Given the description of an element on the screen output the (x, y) to click on. 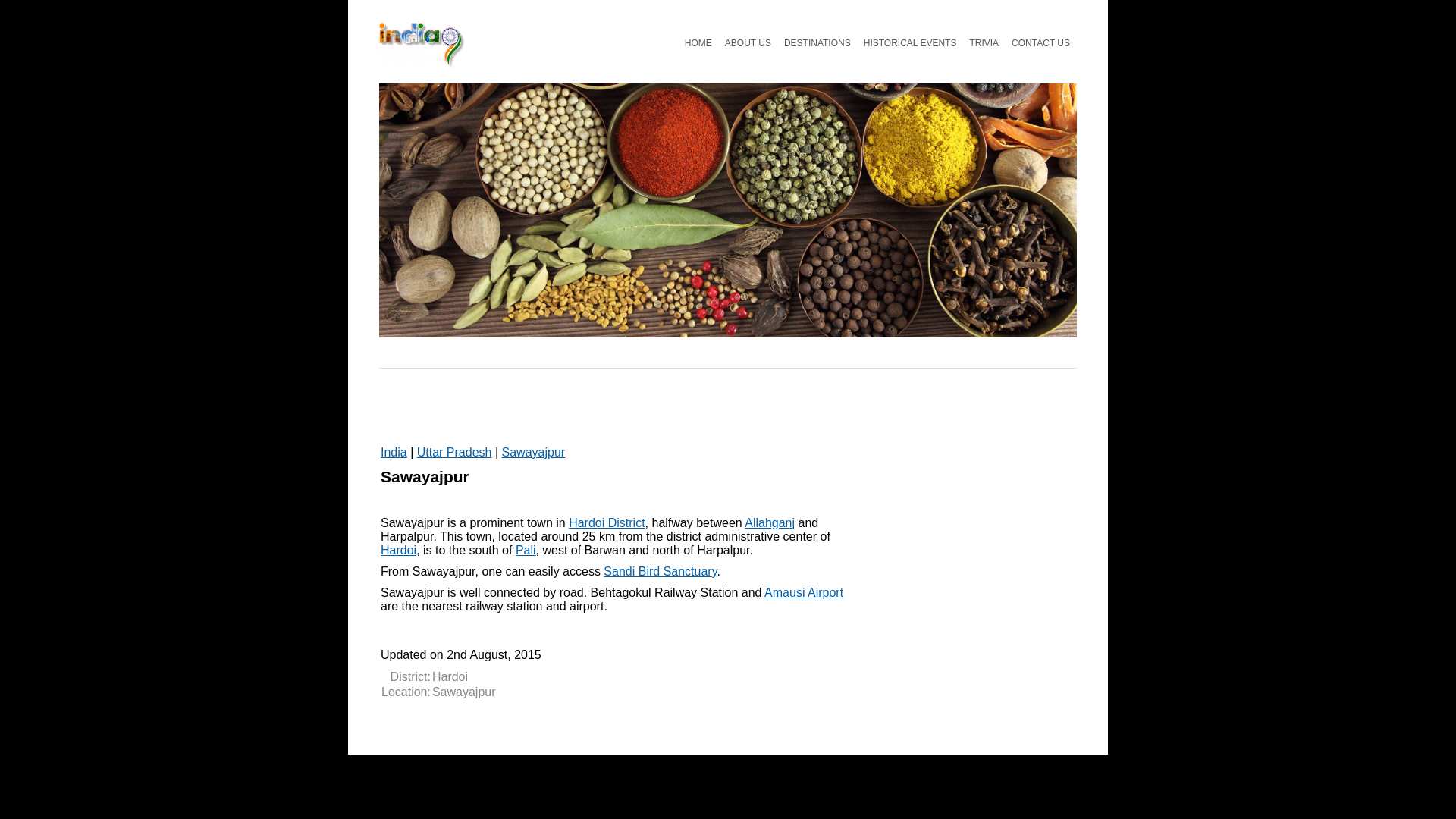
Uttar Pradesh (454, 451)
HOME (697, 43)
Hardoi (398, 549)
HISTORICAL EVENTS (909, 43)
Sawayajpur (534, 451)
DESTINATIONS (817, 43)
India (393, 451)
State (454, 451)
Allahganj (769, 522)
City (534, 451)
Hardoi District (607, 522)
Sandi Bird Sanctuary (660, 571)
TRIVIA (983, 43)
Pali (525, 549)
CONTACT US (1040, 43)
